Given the description of an element on the screen output the (x, y) to click on. 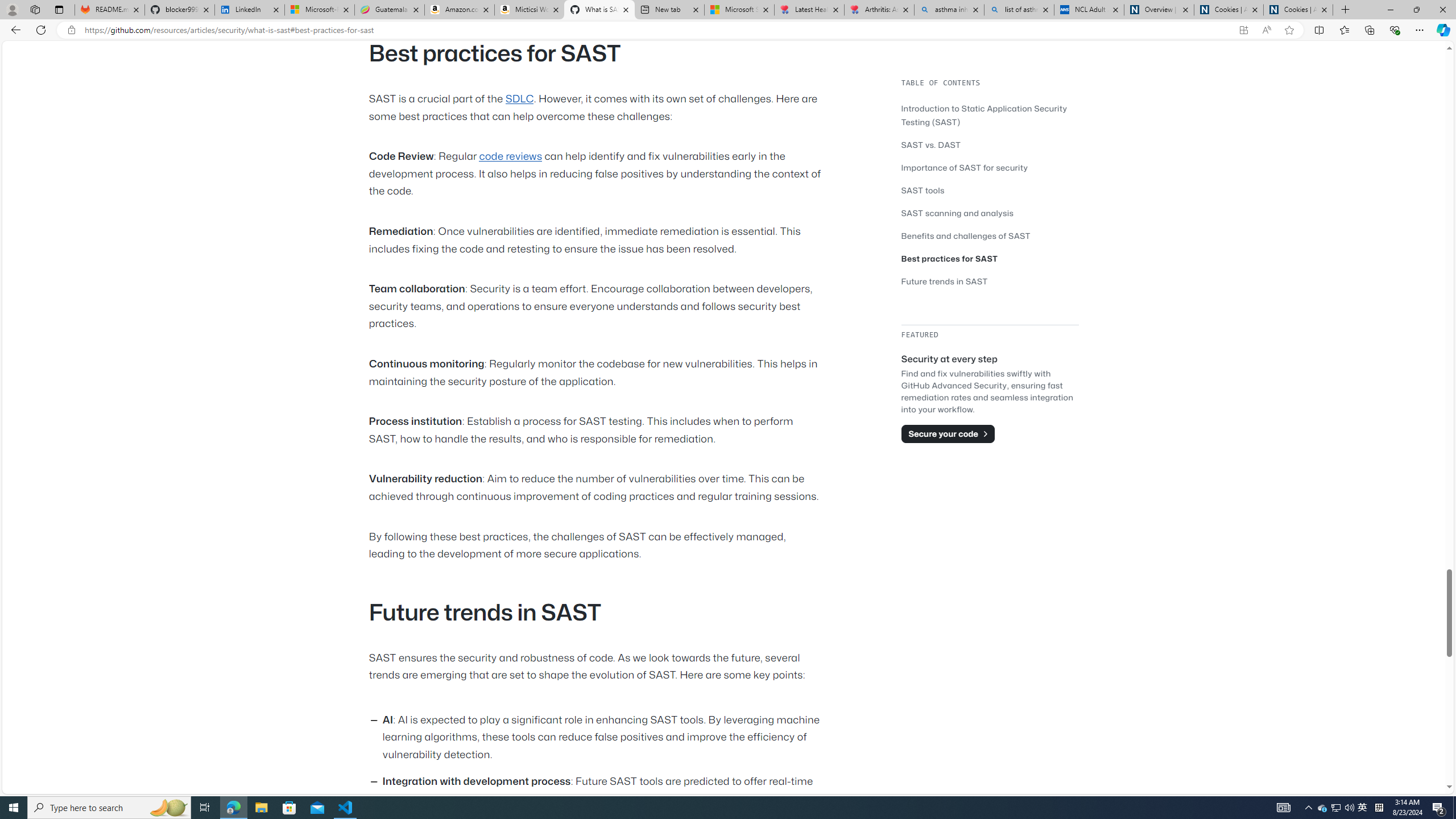
NCL Adult Asthma Inhaler Choice Guideline (1088, 9)
SAST vs. DAST (989, 144)
Arthritis: Ask Health Professionals (879, 9)
SAST tools (922, 189)
list of asthma inhalers uk - Search (1018, 9)
Benefits and challenges of SAST (989, 235)
asthma inhaler - Search (949, 9)
SAST scanning and analysis (989, 212)
